Given the description of an element on the screen output the (x, y) to click on. 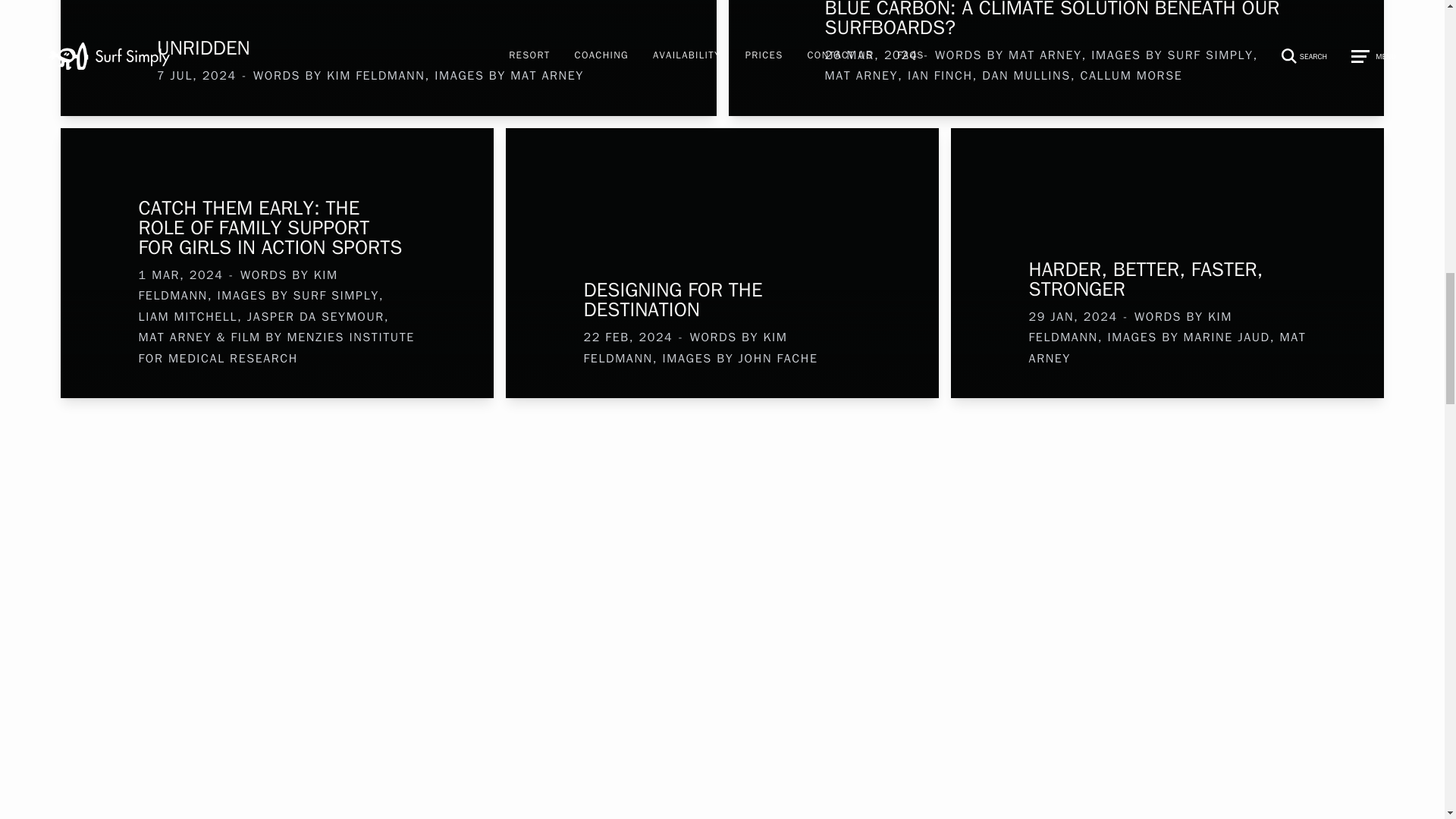
UNRIDDEN  (388, 48)
DESIGNING FOR THE DESTINATION  (722, 300)
HARDER, BETTER, FASTER, STRONGER  (1167, 279)
BLUE CARBON: A CLIMATE SOLUTION BENEATH OUR SURFBOARDS?  (1056, 18)
